Given the description of an element on the screen output the (x, y) to click on. 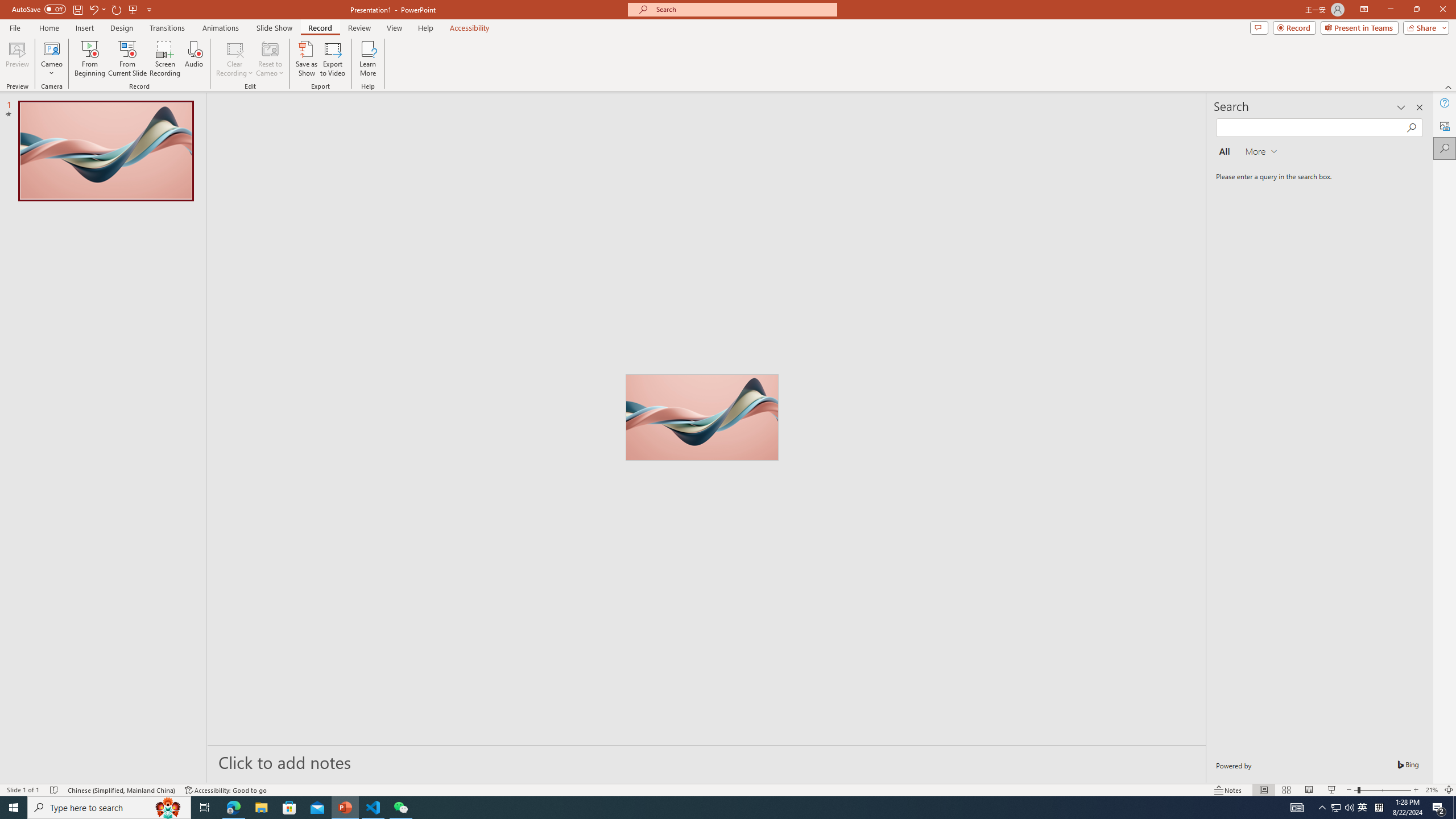
Slide Notes (706, 761)
Alt Text (1444, 125)
Export to Video (332, 58)
Wavy 3D art (701, 417)
